Given the description of an element on the screen output the (x, y) to click on. 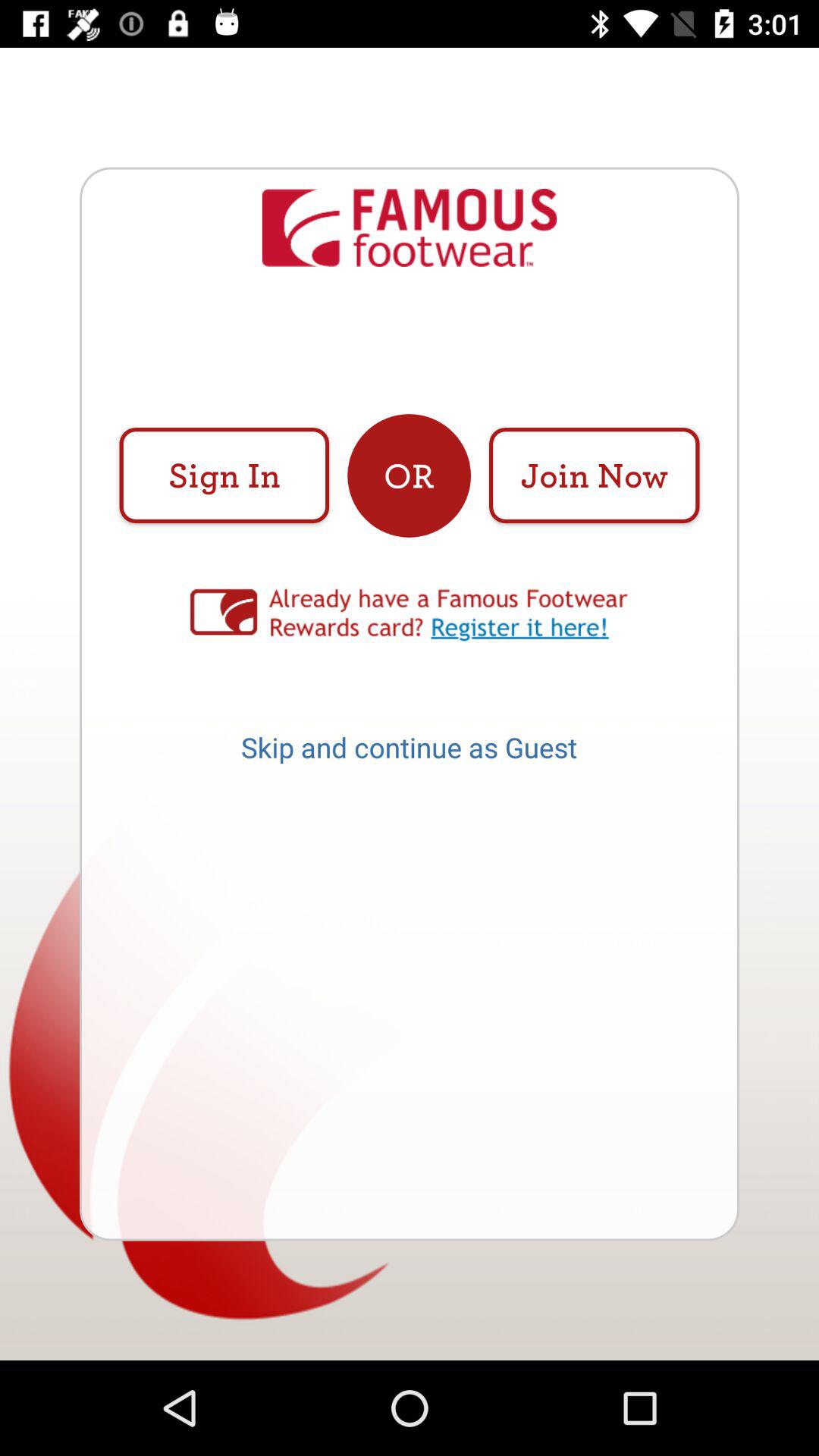
toggle to more (409, 614)
